Given the description of an element on the screen output the (x, y) to click on. 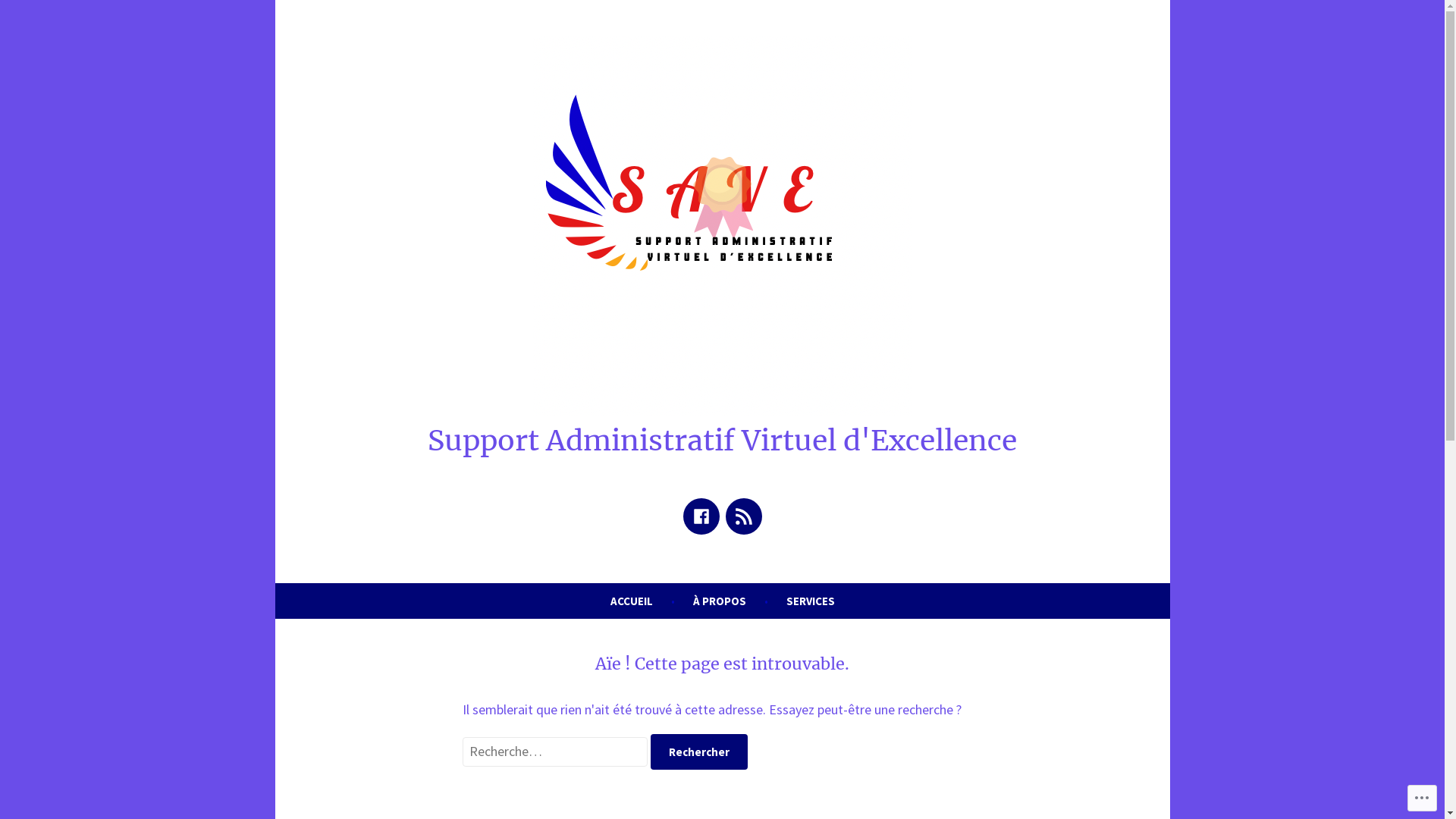
ACCUEIL Element type: text (630, 600)
SERVICES Element type: text (809, 600)
Rechercher Element type: text (698, 751)
Support Administratif Virtuel d'Excellence Element type: text (721, 440)
